Given the description of an element on the screen output the (x, y) to click on. 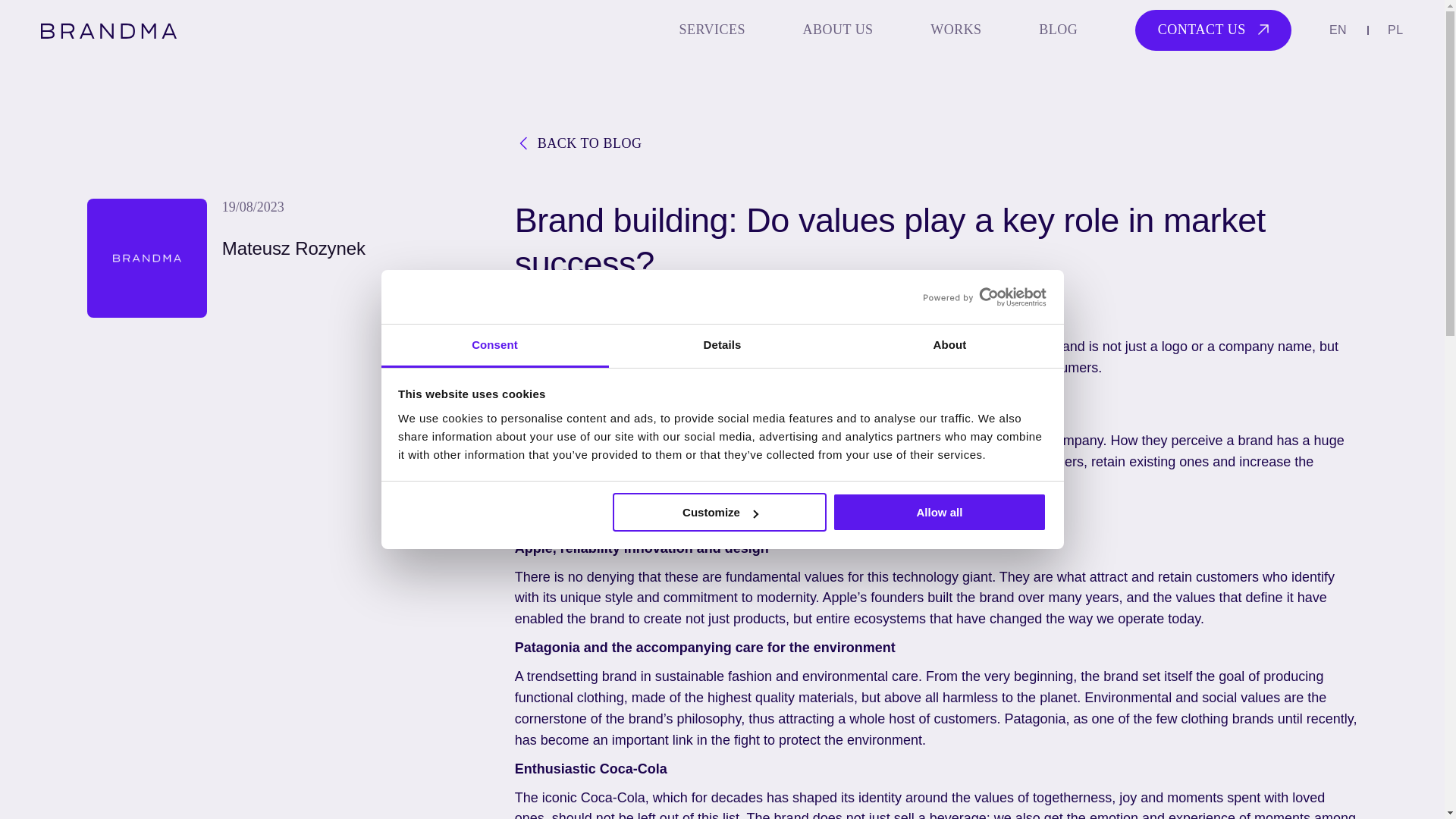
Allow all (939, 512)
Details (721, 345)
SERVICES (712, 30)
Back to blog (578, 142)
EN (1337, 29)
ABOUT US (838, 30)
Consent (494, 345)
Contact us (1213, 29)
PL (1395, 29)
